Given the description of an element on the screen output the (x, y) to click on. 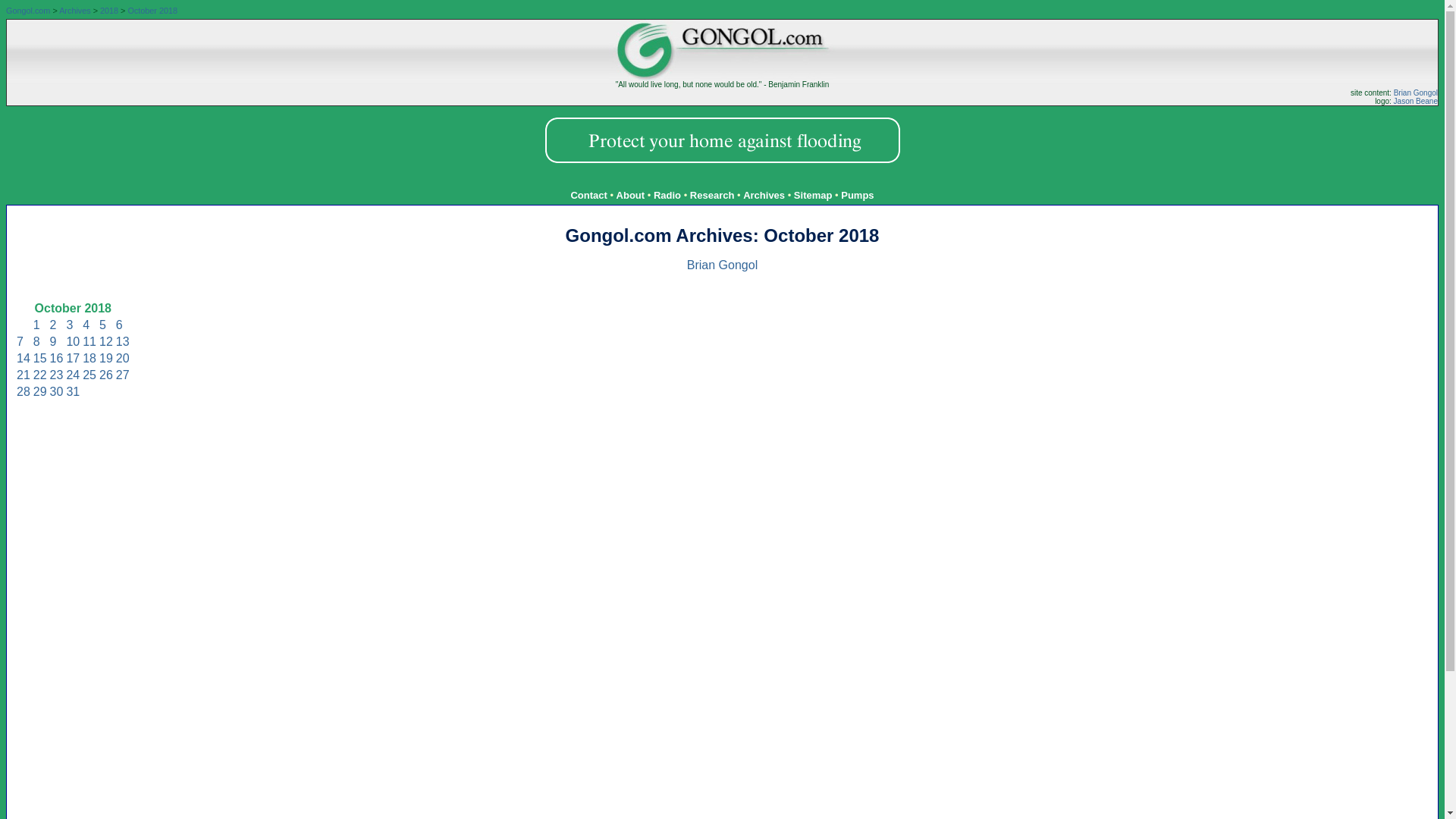
Archives (763, 194)
Sitemap (812, 194)
15 (39, 358)
Archives (74, 10)
Advertisement (721, 179)
October 2018 (152, 10)
About (630, 194)
Gongol.com (27, 10)
Pumps (857, 194)
2018 (108, 10)
25 (89, 374)
20 (122, 358)
13 (122, 341)
12 (106, 341)
Brian Gongol (722, 264)
